Given the description of an element on the screen output the (x, y) to click on. 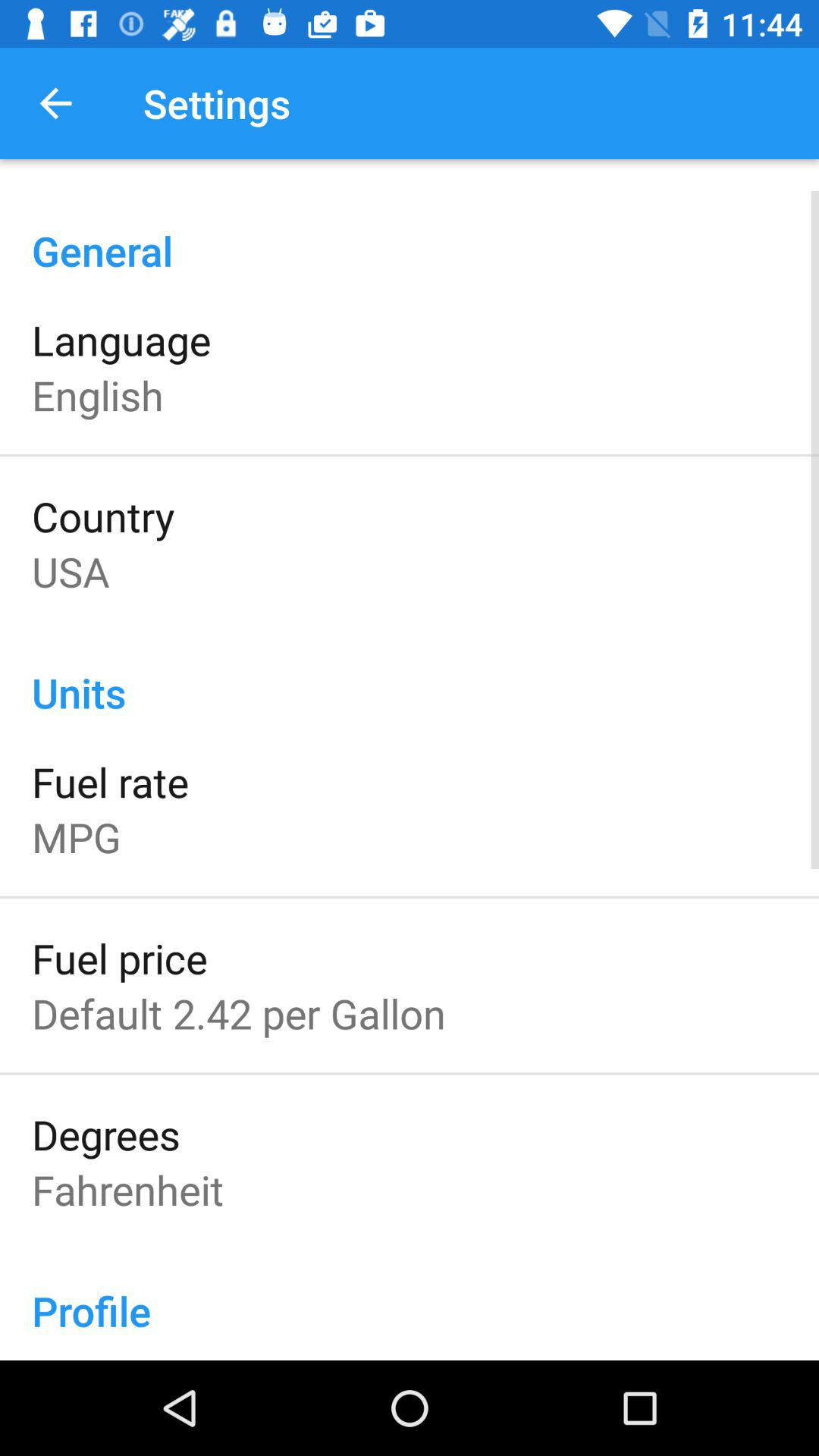
choose icon below the country icon (70, 570)
